Given the description of an element on the screen output the (x, y) to click on. 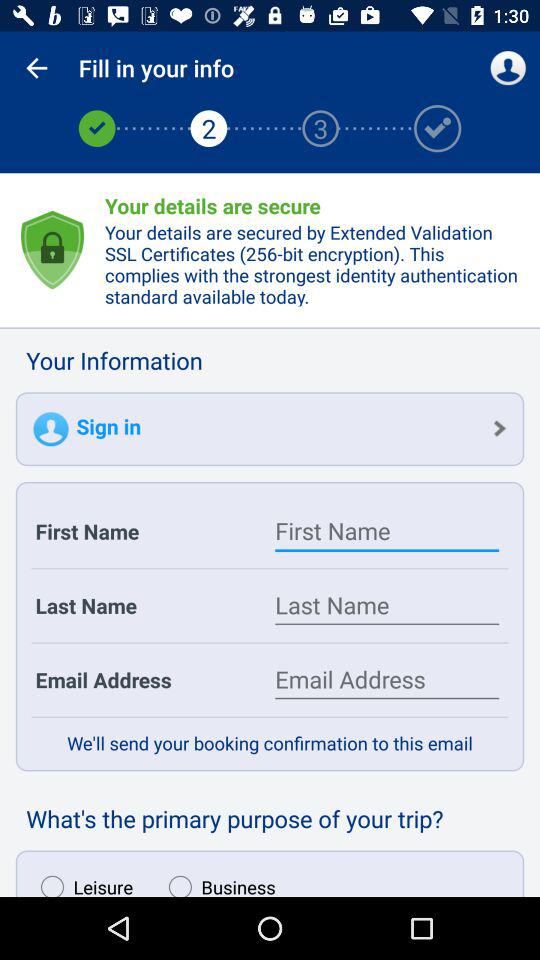
add first name (387, 531)
